Given the description of an element on the screen output the (x, y) to click on. 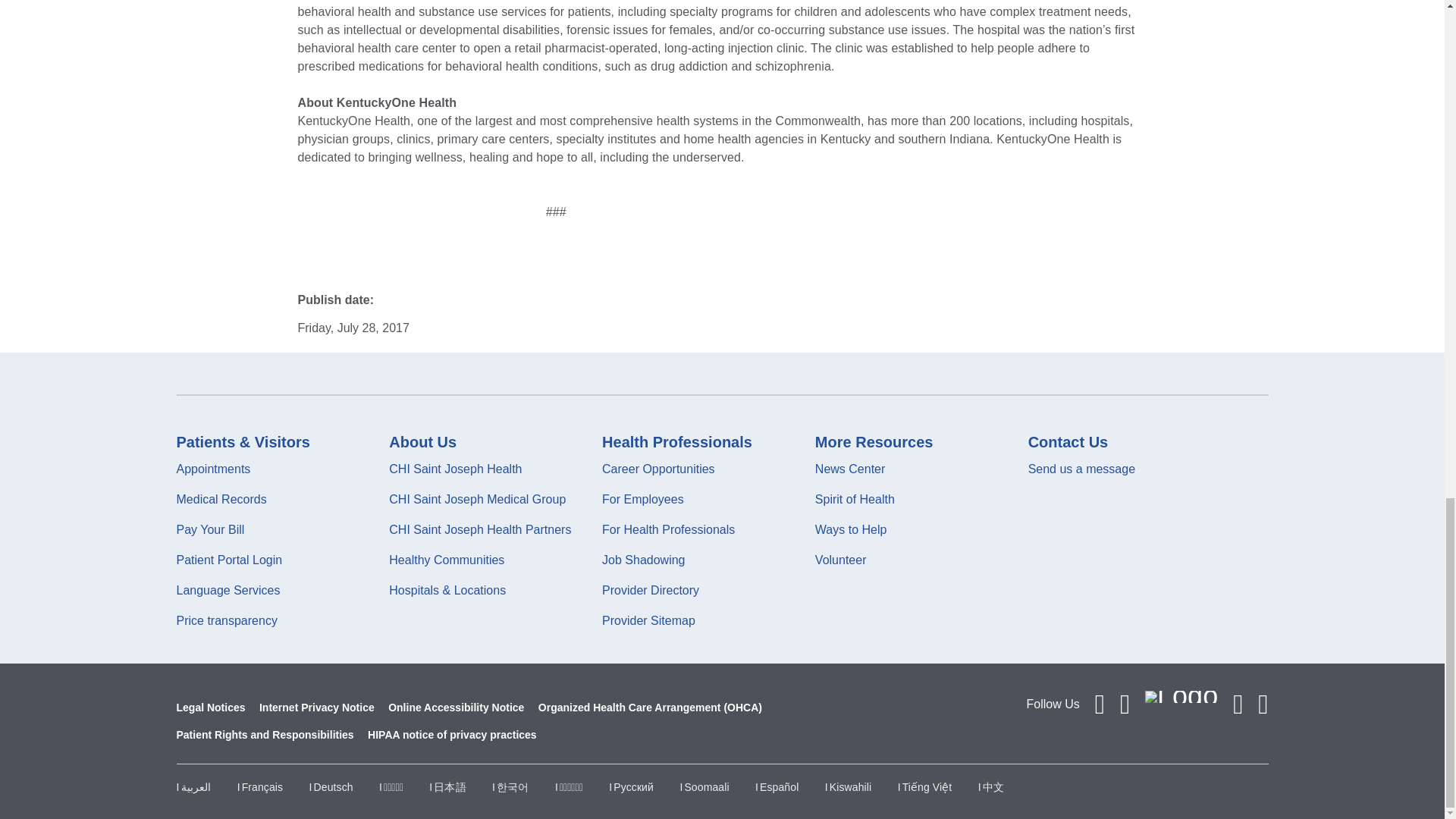
Arabic (193, 787)
Swahili (847, 787)
Korean (510, 787)
Vietnamese (925, 787)
Spanish (776, 787)
Nepali (568, 787)
German (330, 787)
French (259, 787)
Japanese (447, 787)
Somali (704, 787)
Russian (630, 787)
Hindi (390, 787)
Chinese (991, 787)
